Given the description of an element on the screen output the (x, y) to click on. 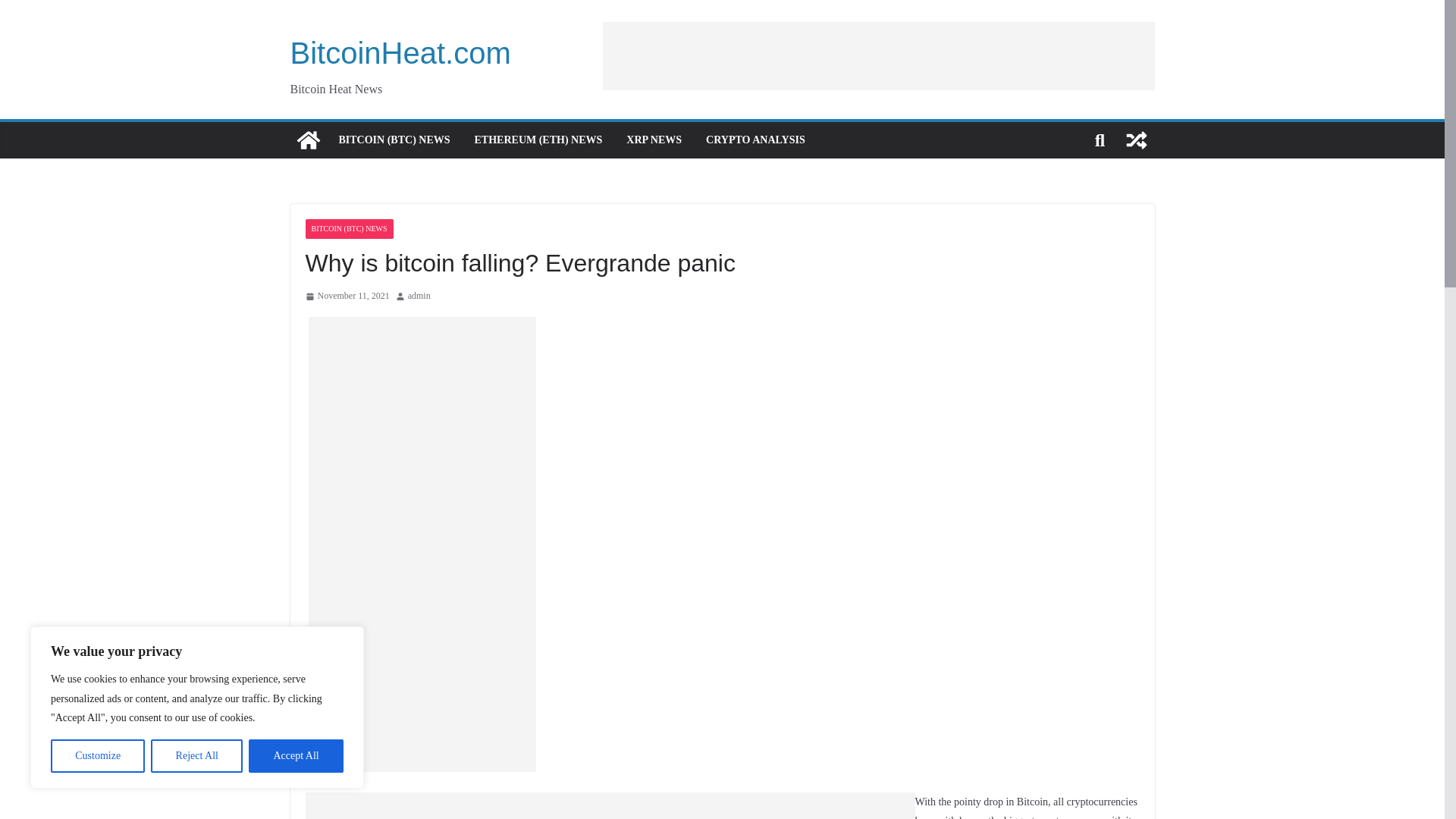
XRP NEWS (653, 139)
CRYPTO ANALYSIS (755, 139)
View a random post (1136, 140)
Advertisement (431, 805)
Advertisement (878, 55)
Advertisement (736, 805)
Accept All (295, 756)
BitcoinHeat.com (307, 140)
November 11, 2021 (346, 296)
BitcoinHeat.com (400, 52)
BitcoinHeat.com (400, 52)
1:31 am (346, 296)
Reject All (197, 756)
Customize (97, 756)
admin (418, 296)
